Given the description of an element on the screen output the (x, y) to click on. 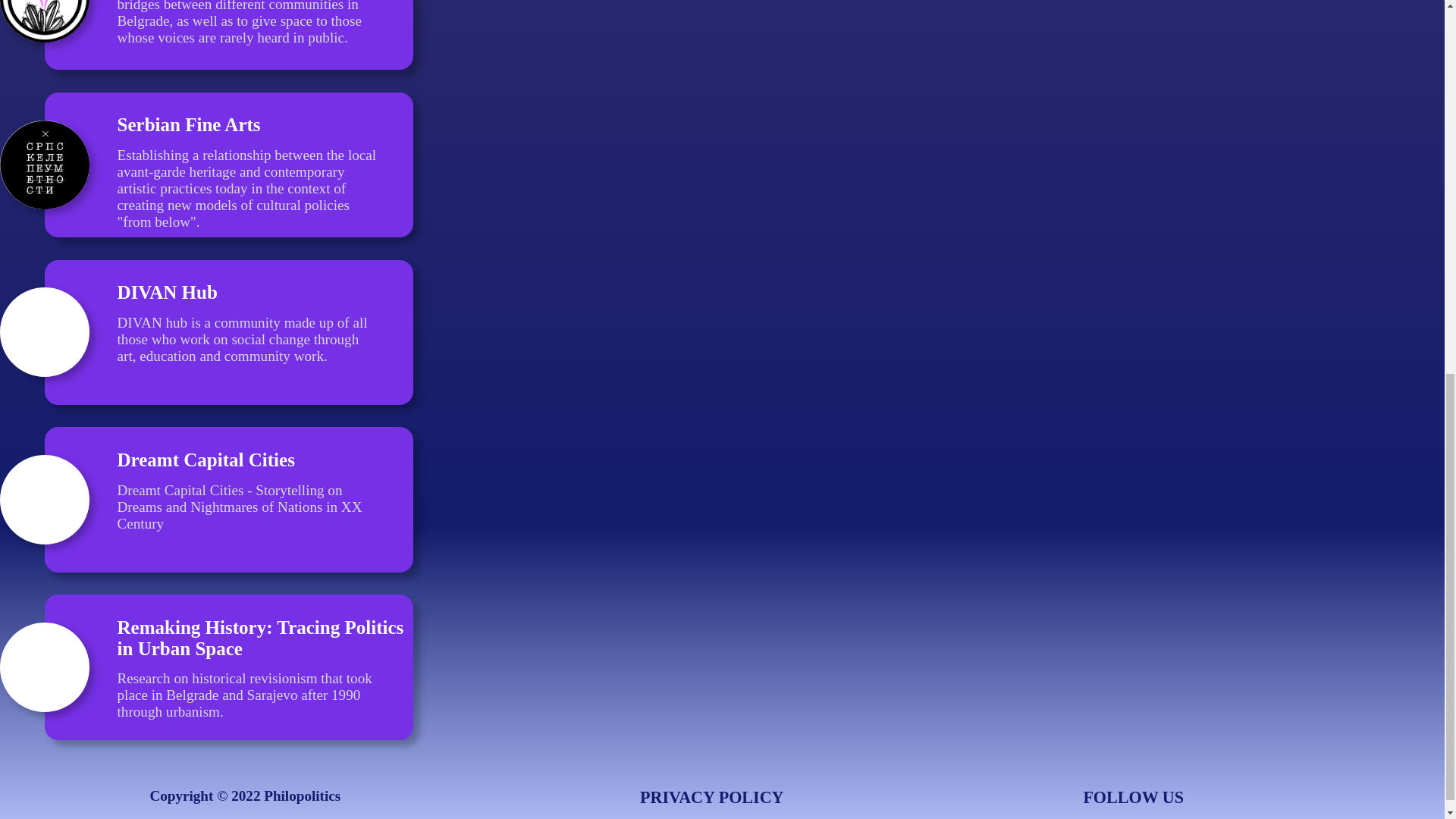
PRIVACY POLICY (712, 796)
